Given the description of an element on the screen output the (x, y) to click on. 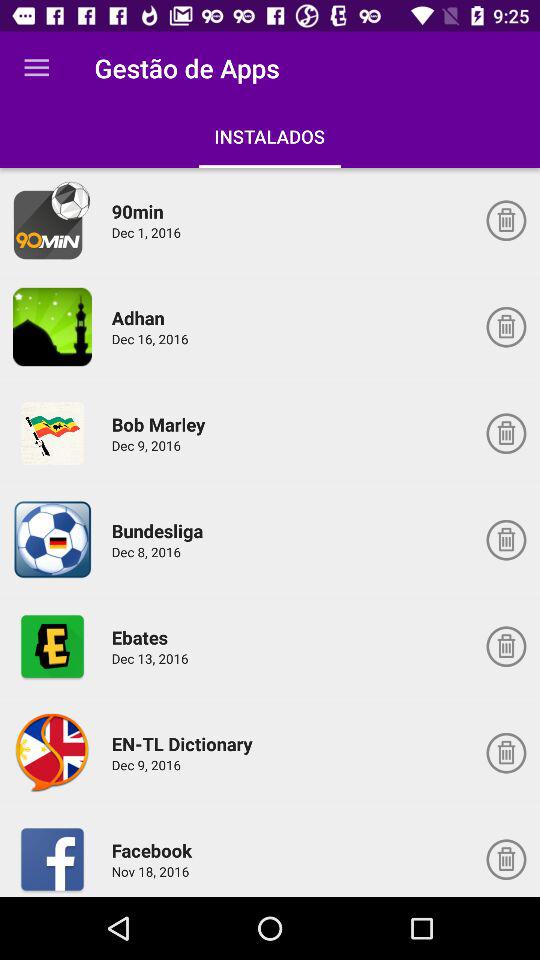
delete app (505, 433)
